Given the description of an element on the screen output the (x, y) to click on. 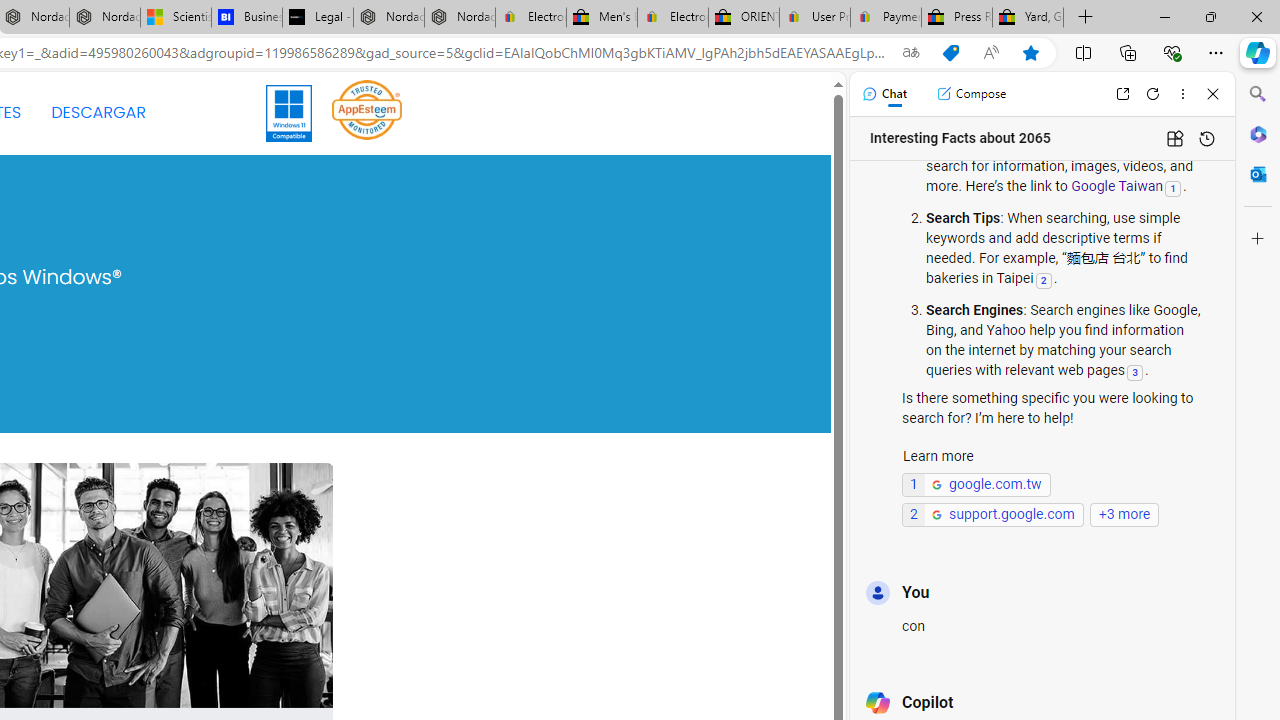
Press Room - eBay Inc. (956, 17)
Windows 11 (289, 112)
App Esteem (367, 109)
Chat (884, 93)
Show translate options (910, 53)
Customize (1258, 239)
Payments Terms of Use | eBay.com (886, 17)
User Privacy Notice | eBay (814, 17)
